Given the description of an element on the screen output the (x, y) to click on. 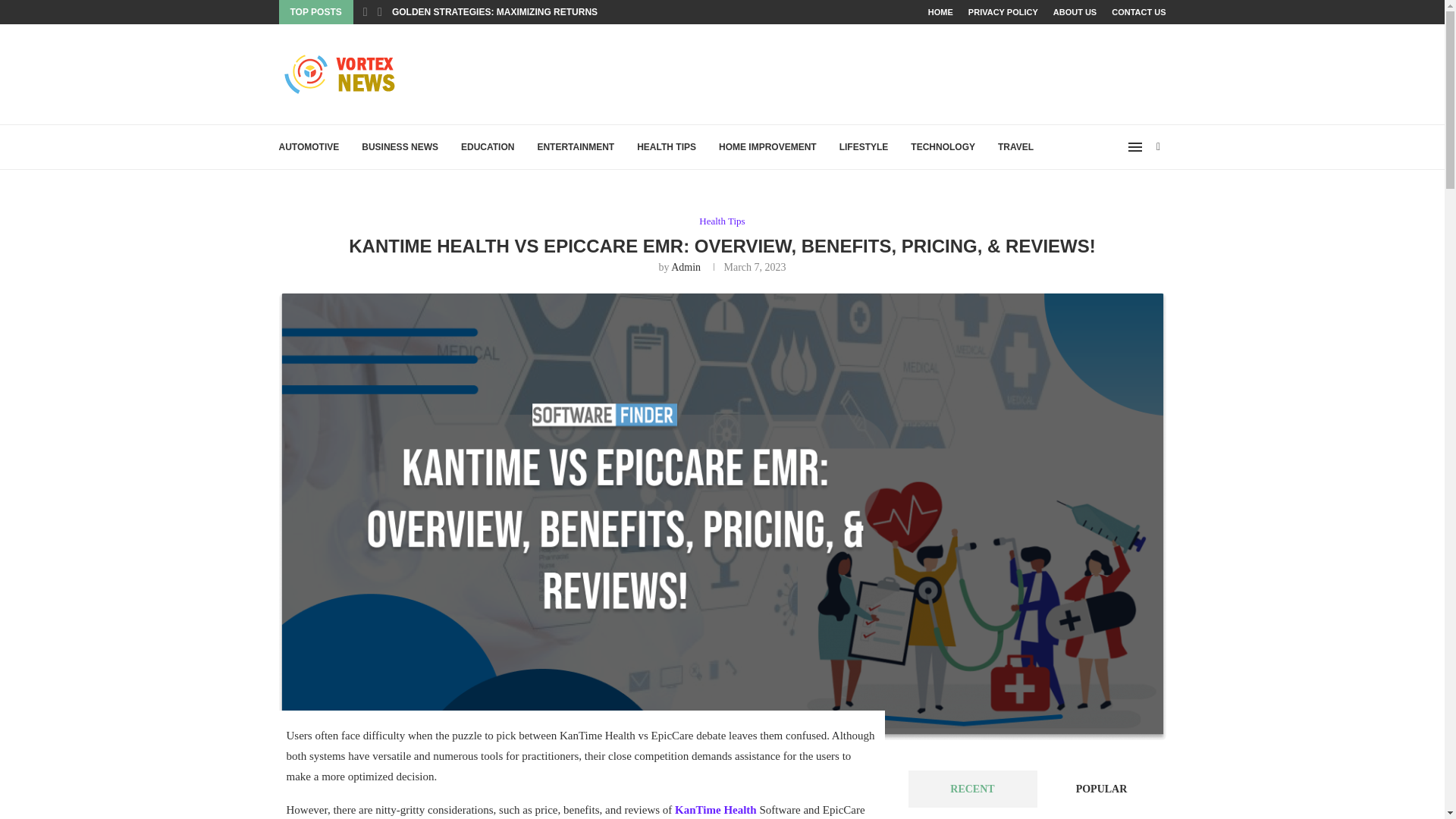
LIFESTYLE (864, 146)
AUTOMOTIVE (309, 146)
EDUCATION (487, 146)
HOME IMPROVEMENT (767, 146)
ABOUT US (1074, 12)
TECHNOLOGY (943, 146)
TRAVEL (1015, 146)
BUSINESS NEWS (399, 146)
CONTACT US (1139, 12)
PRIVACY POLICY (1003, 12)
ENTERTAINMENT (575, 146)
HOME (940, 12)
HEALTH TIPS (666, 146)
